Given the description of an element on the screen output the (x, y) to click on. 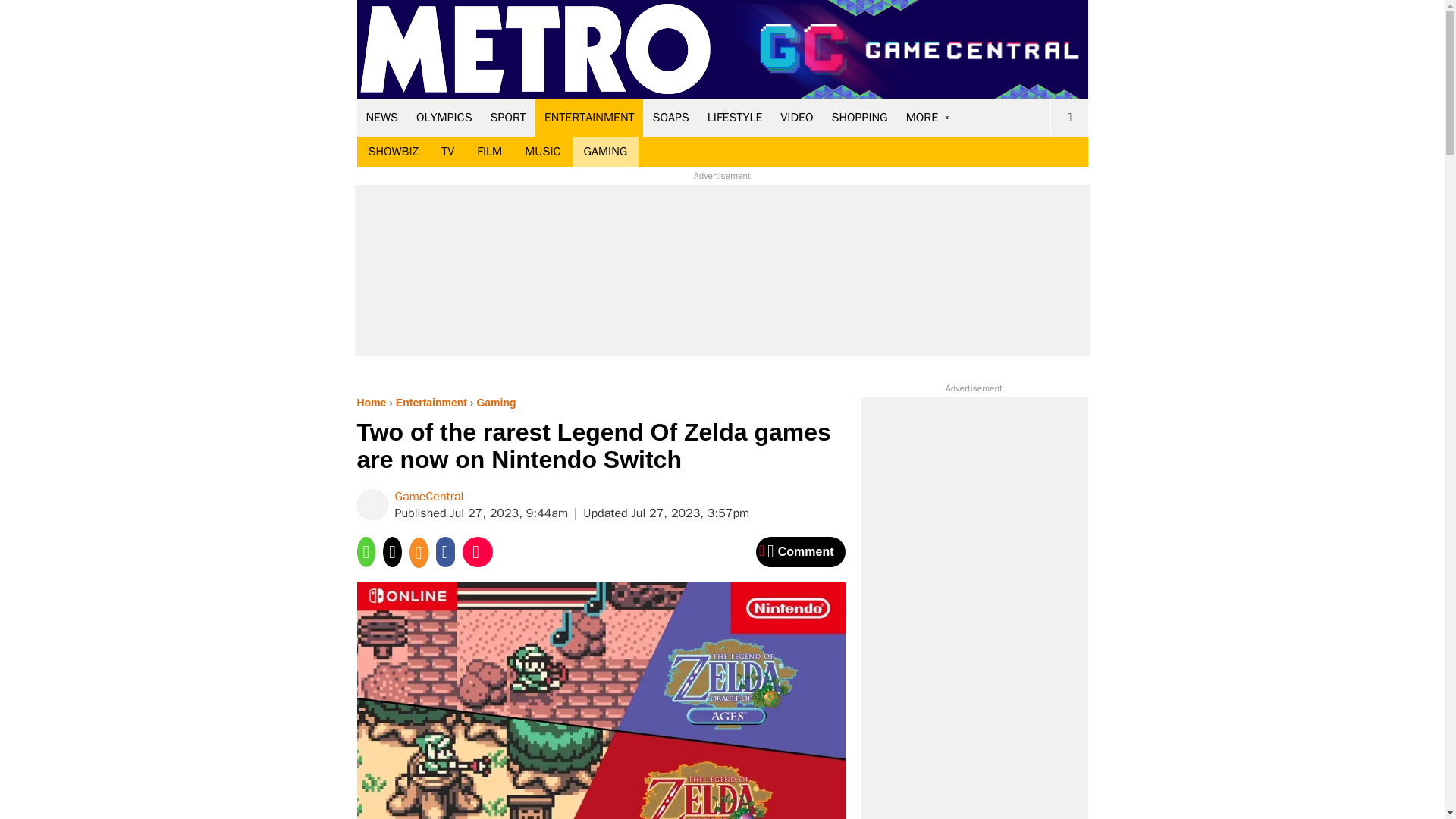
NEWS (381, 117)
SPORT (508, 117)
FILM (489, 151)
SHOWBIZ (392, 151)
GAMING (605, 151)
OLYMPICS (444, 117)
LIFESTYLE (734, 117)
MUSIC (542, 151)
SOAPS (670, 117)
TV (447, 151)
